Given the description of an element on the screen output the (x, y) to click on. 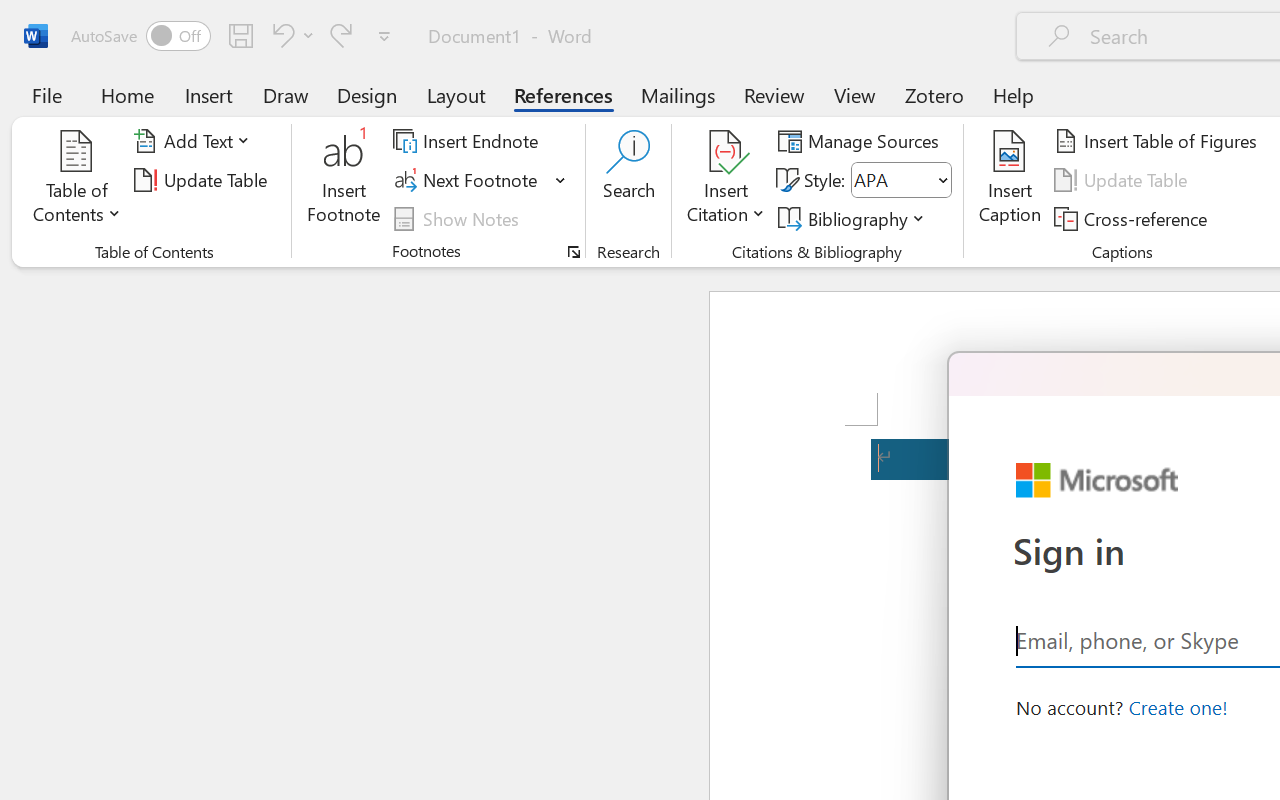
Update Table (1124, 179)
Insert Caption... (1009, 180)
Update Table... (204, 179)
Manage Sources... (861, 141)
Next Footnote (468, 179)
Search (628, 179)
Insert Citation (726, 179)
